Given the description of an element on the screen output the (x, y) to click on. 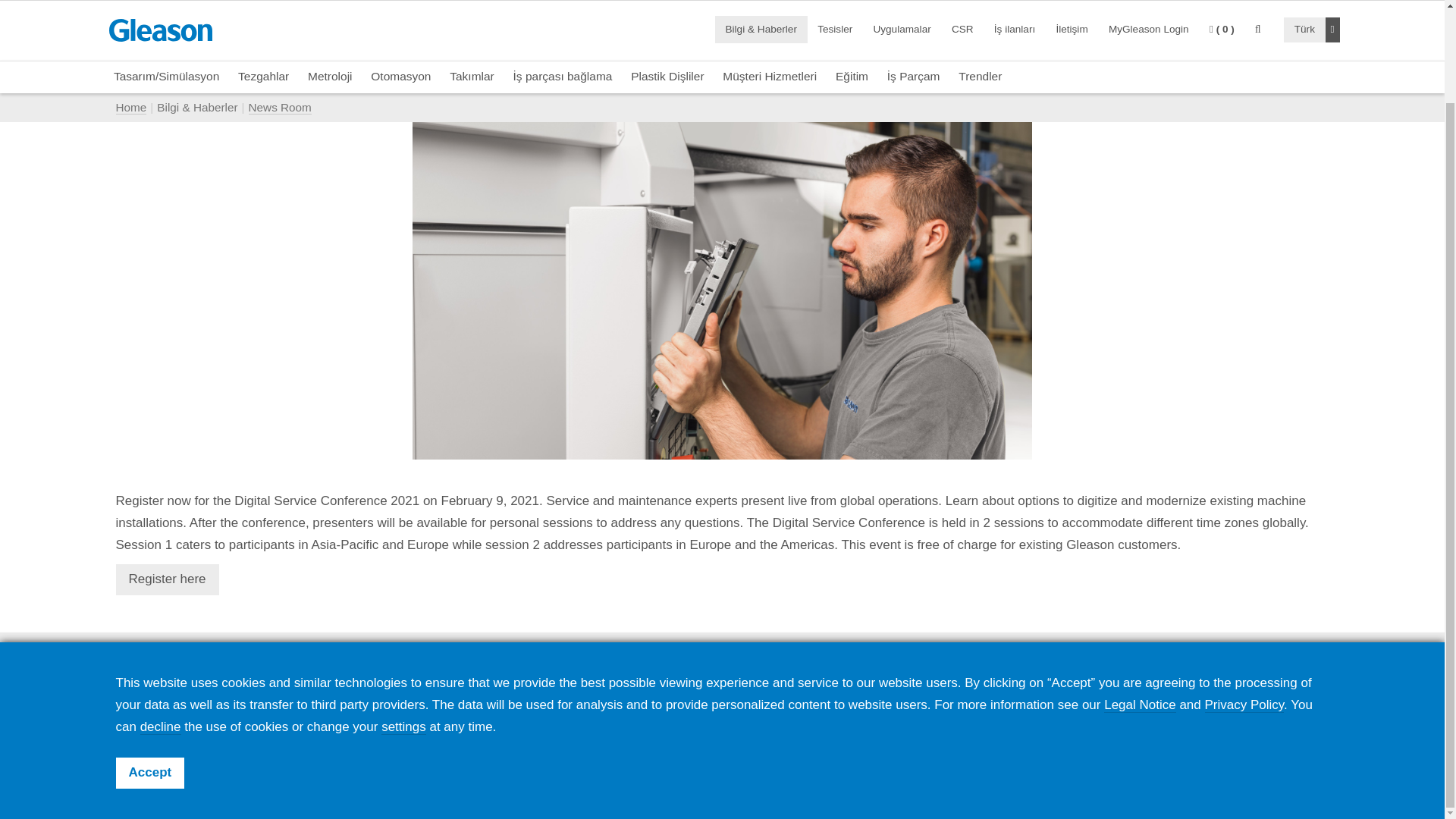
Facebook (1120, 717)
LinkedIn (1158, 717)
YouTube (1233, 717)
Instagram (1271, 717)
Twitter (1195, 717)
Line (1309, 717)
News Feed (1082, 716)
